Given the description of an element on the screen output the (x, y) to click on. 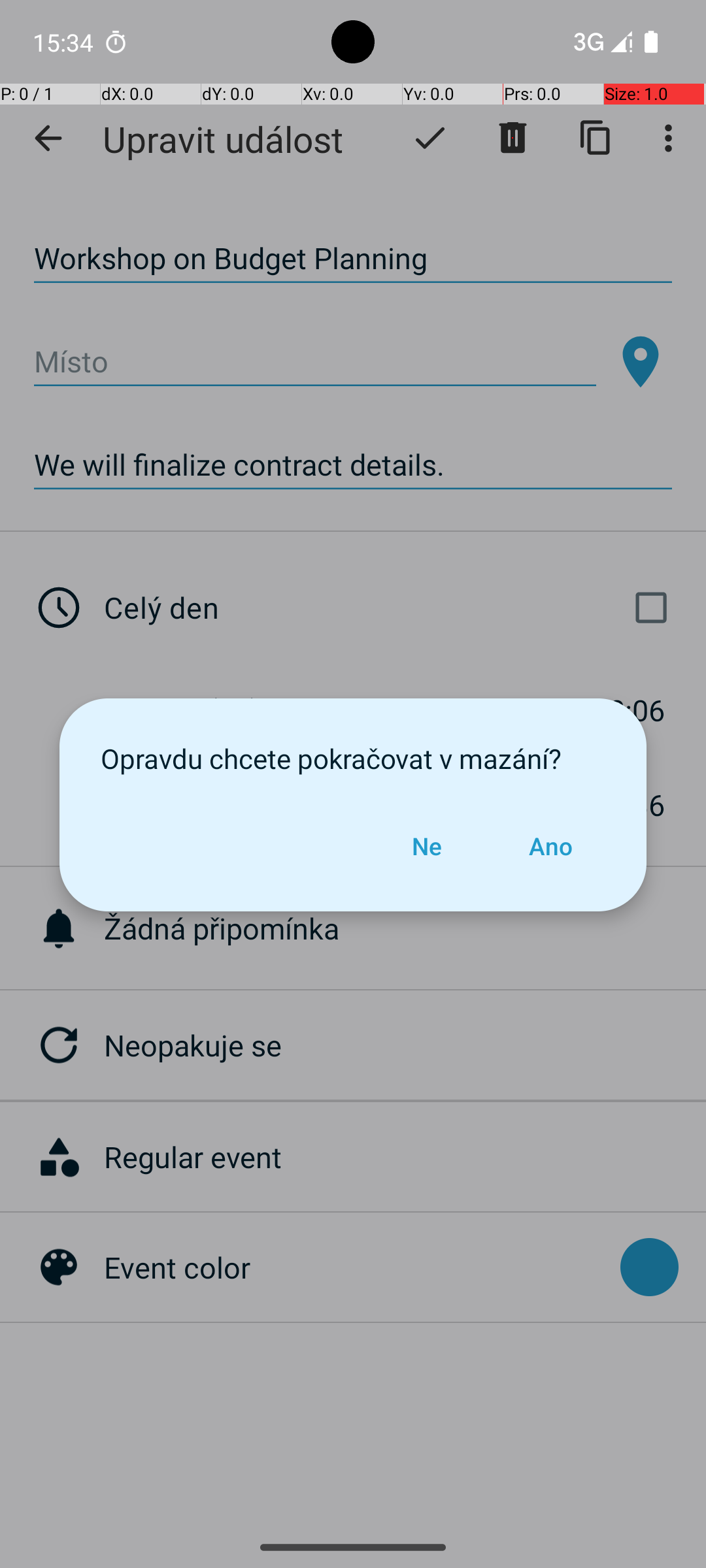
Opravdu chcete pokračovat v mazání? Element type: android.widget.TextView (352, 757)
Ne Element type: android.widget.Button (426, 845)
Ano Element type: android.widget.Button (550, 845)
